Given the description of an element on the screen output the (x, y) to click on. 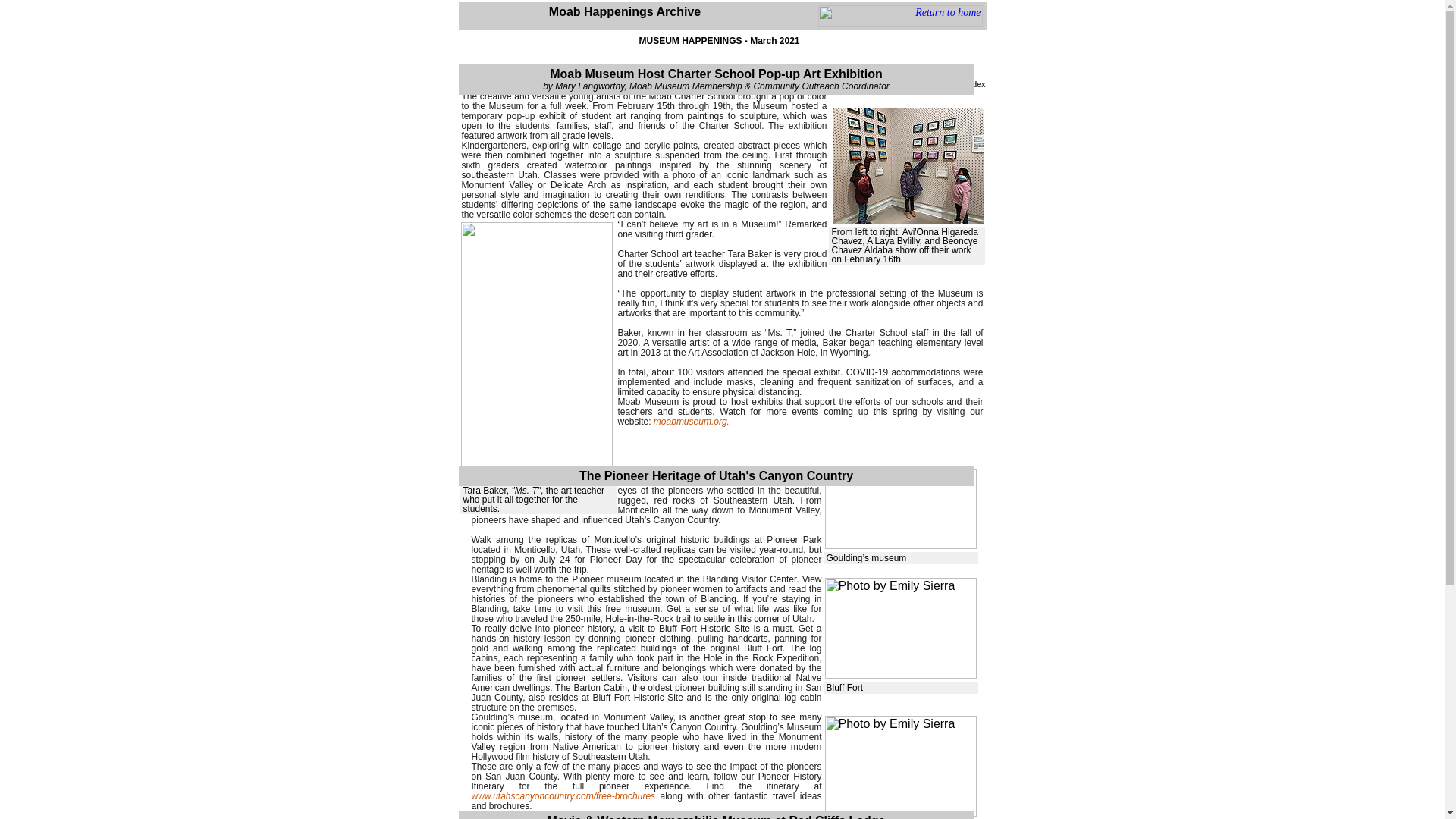
Moab Museum Website (691, 421)
Return to Archive Index (942, 84)
moabmuseum.org. (691, 421)
